Given the description of an element on the screen output the (x, y) to click on. 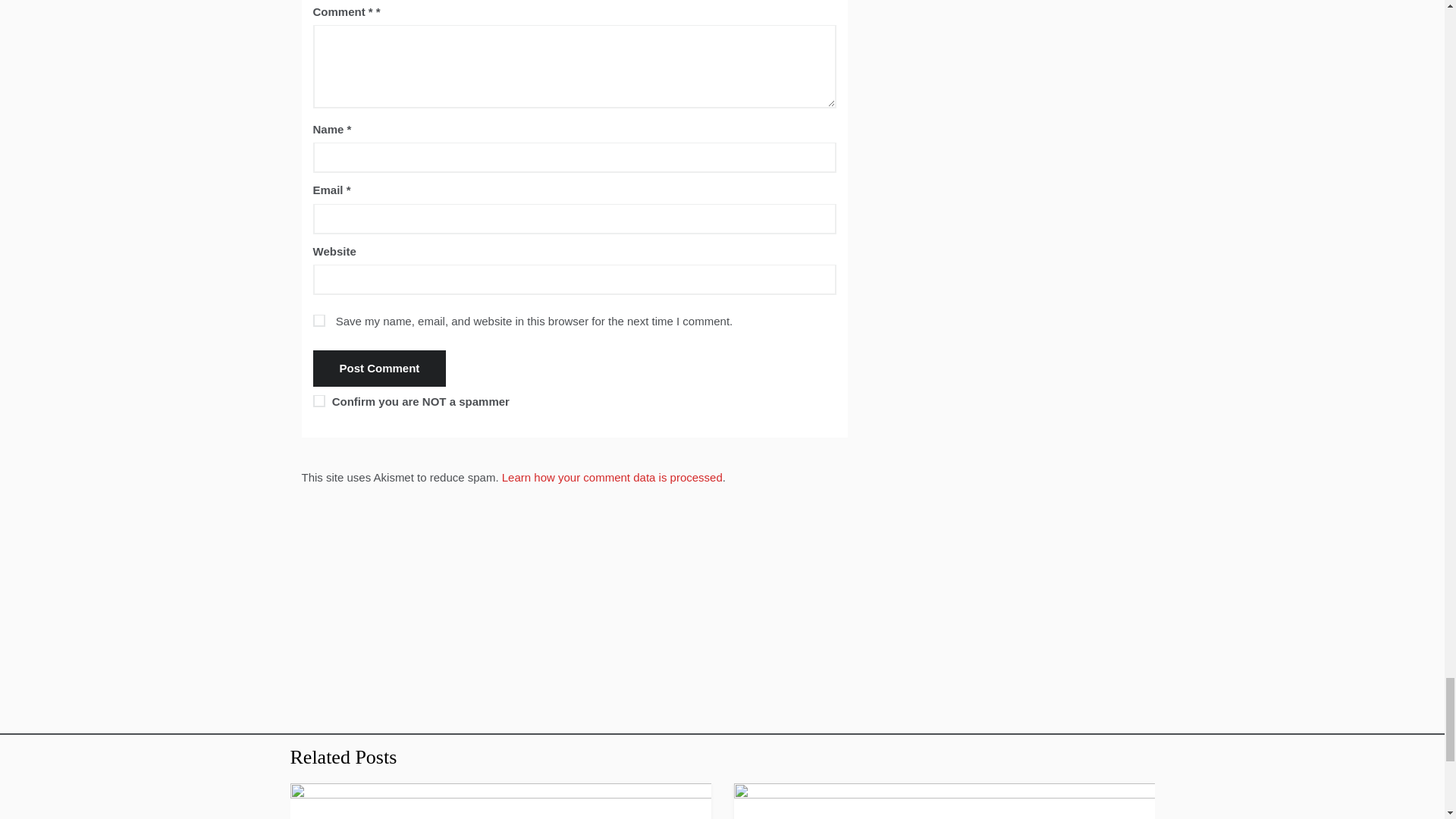
yes (318, 320)
Post Comment (379, 368)
on (318, 400)
